Given the description of an element on the screen output the (x, y) to click on. 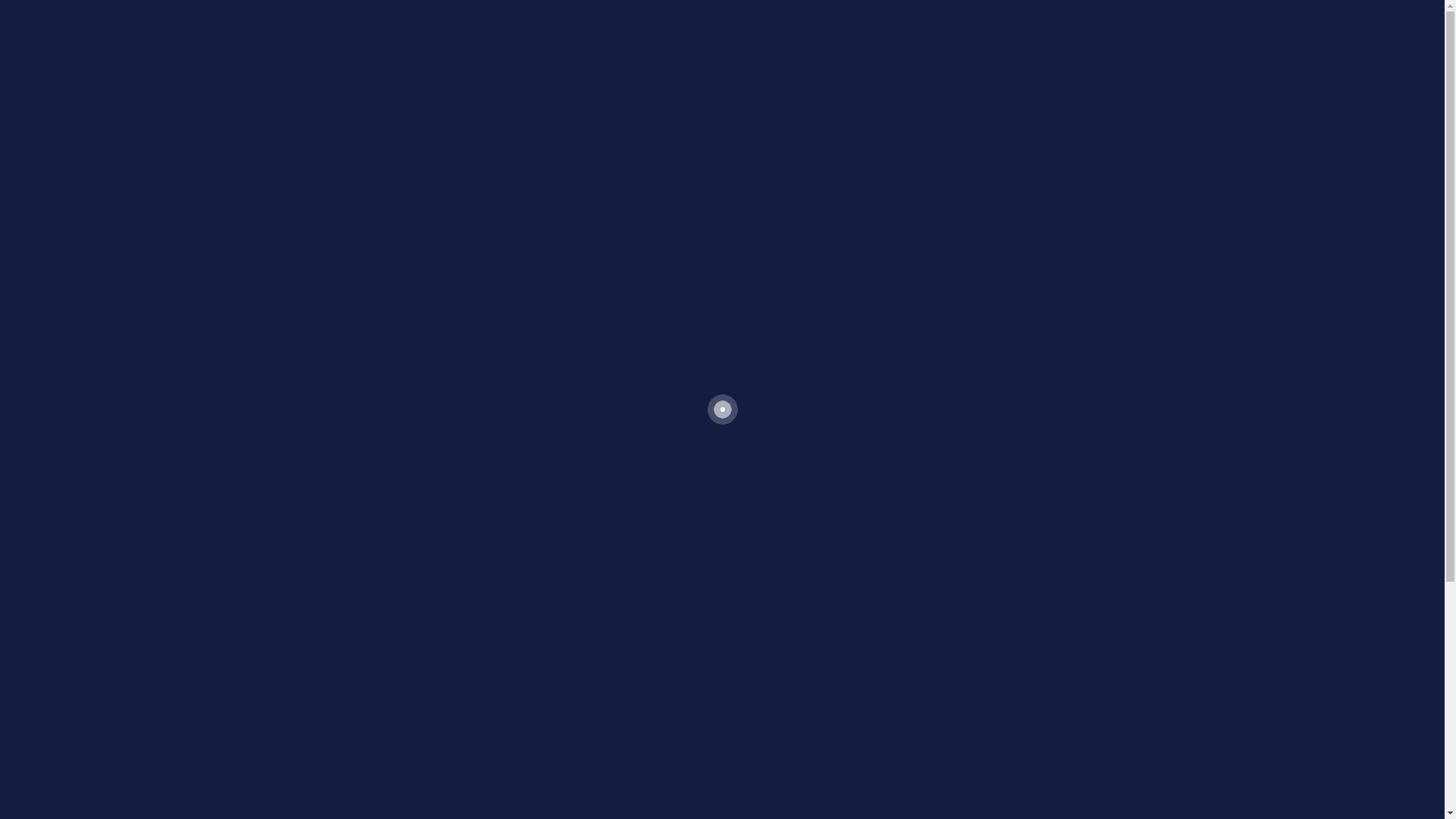
NIEUWS Element type: text (1007, 95)
NL Element type: text (1127, 9)
TOYO TIRES Element type: text (403, 8)
ENG Element type: text (1096, 9)
HOME Element type: text (945, 95)
GESCHIEDENIS Element type: text (1094, 95)
Login Element type: text (320, 328)
